Given the description of an element on the screen output the (x, y) to click on. 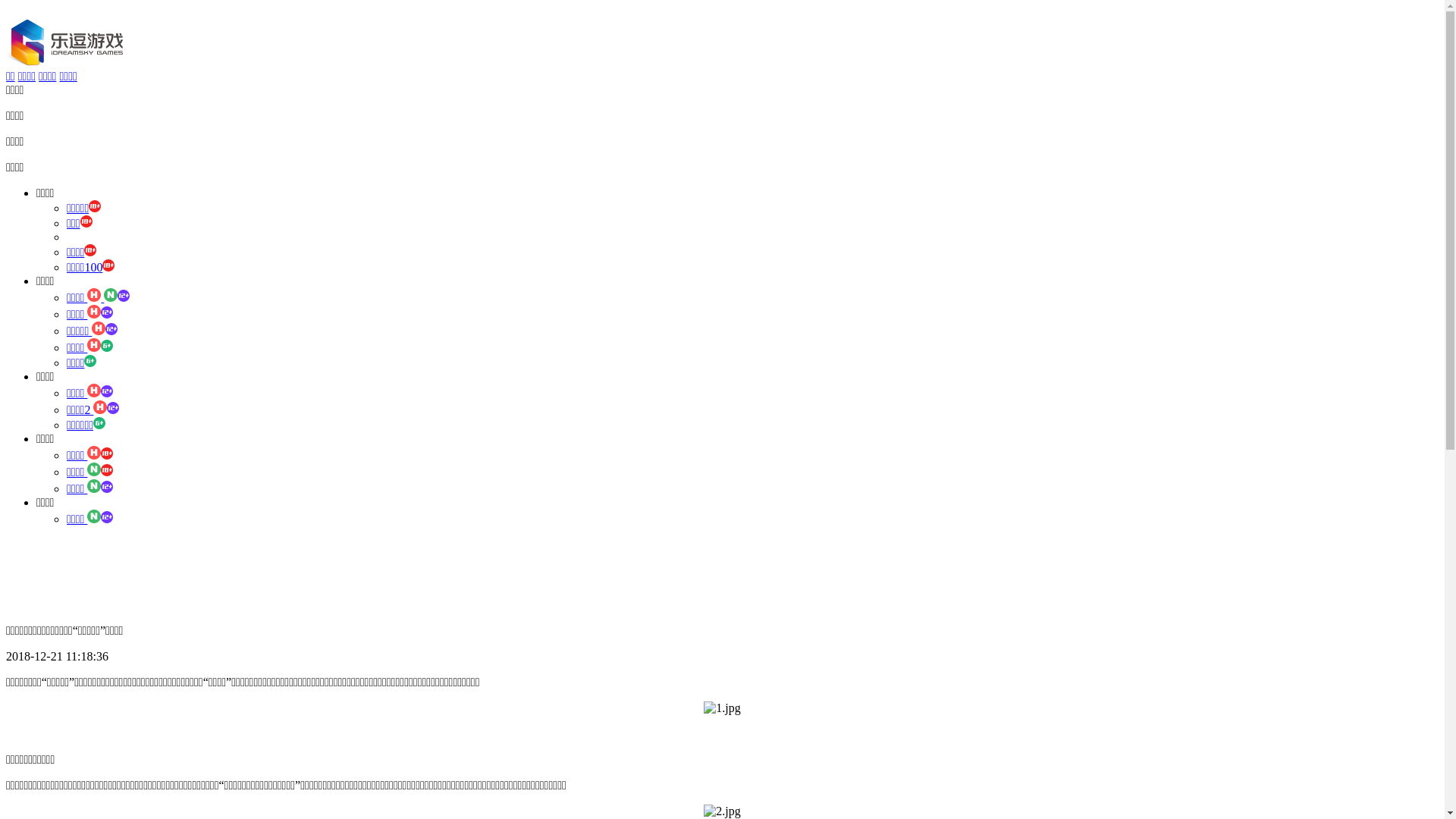
1545362339227947.jpg Element type: hover (721, 708)
1545362347566432.jpg Element type: hover (721, 811)
